Given the description of an element on the screen output the (x, y) to click on. 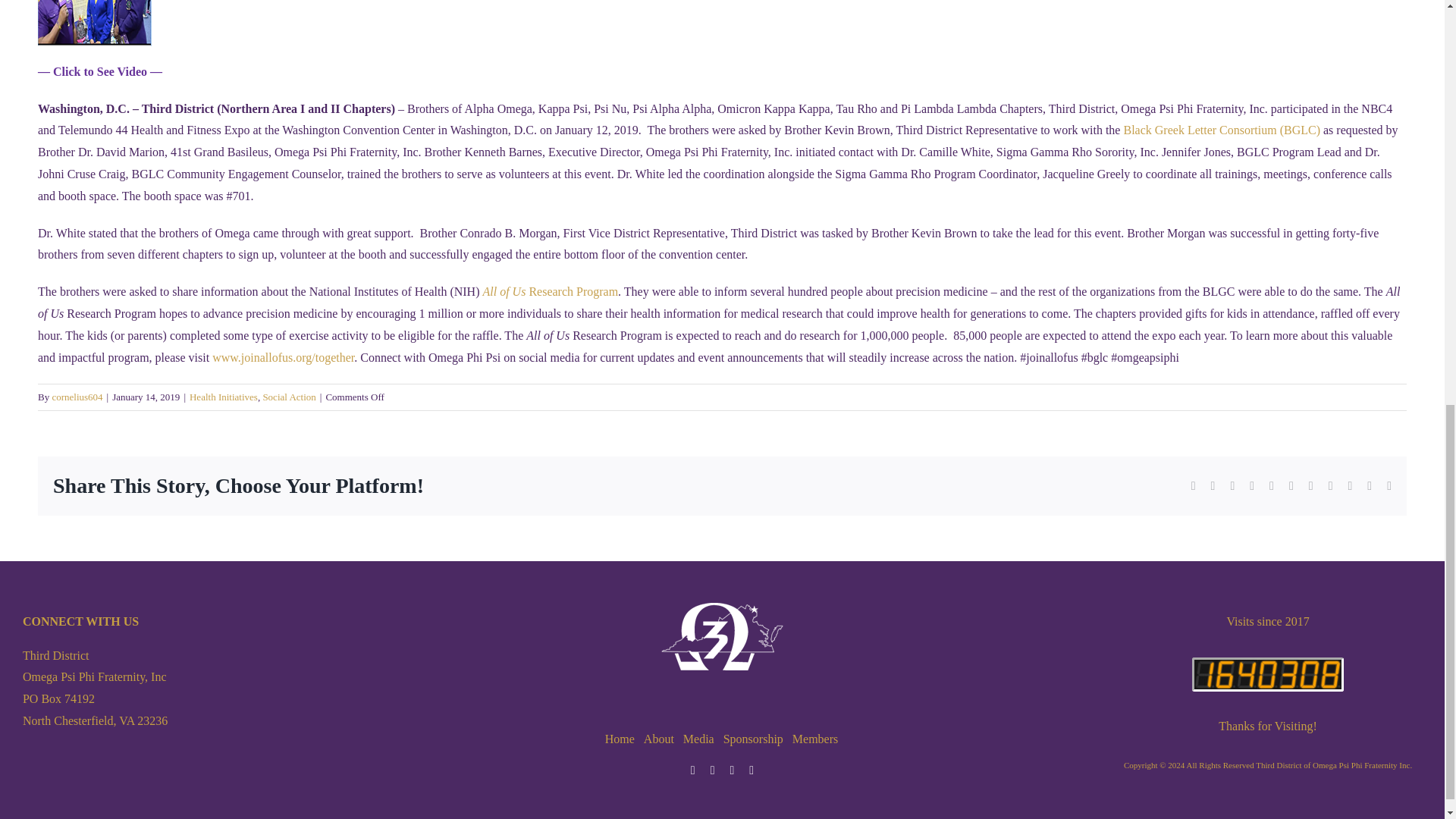
logo-footer (722, 636)
Posts by cornelius604 (75, 396)
